Given the description of an element on the screen output the (x, y) to click on. 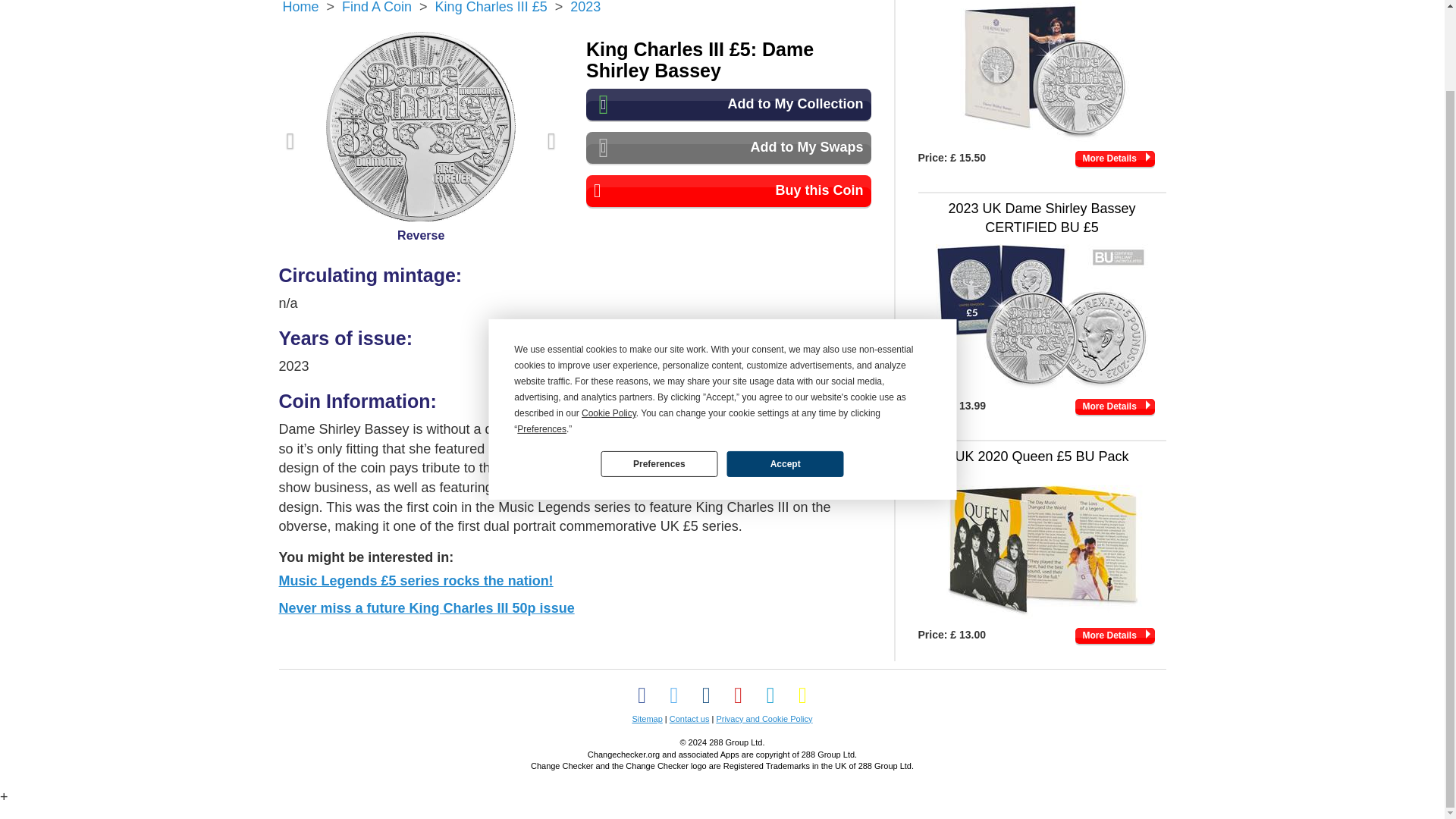
Never miss a future King Charles III 50p issue (427, 607)
Previous (289, 140)
Home (300, 7)
Preferences (658, 372)
Find A Coin (377, 7)
 Add to My Collection (728, 104)
 Add to My Swaps (728, 147)
More Details (1114, 635)
 Buy this Coin (728, 191)
Next (551, 140)
2023 (584, 7)
More Details (1114, 406)
More Details (1114, 158)
Accept (784, 372)
